Given the description of an element on the screen output the (x, y) to click on. 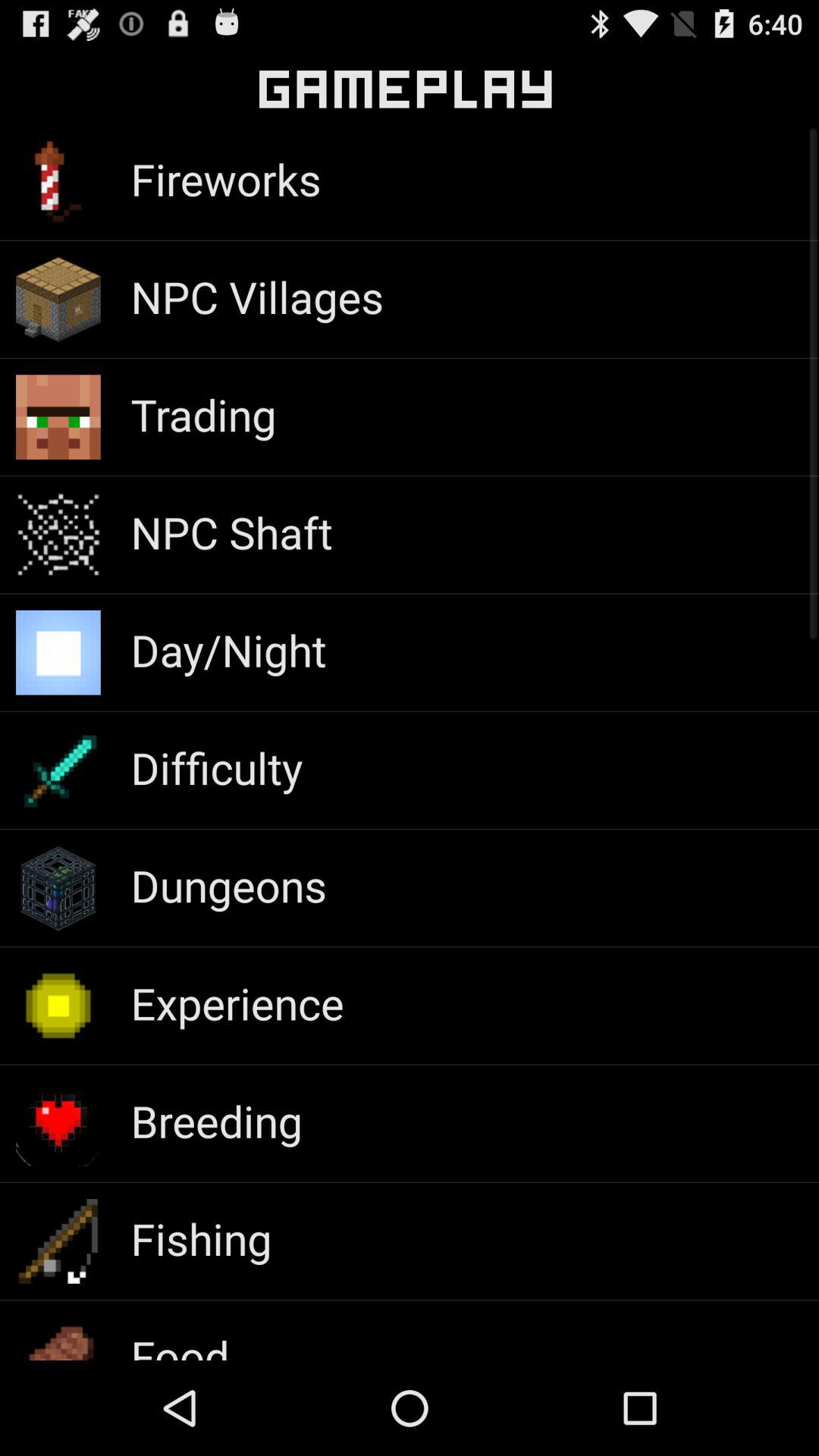
select item above npc shaft item (203, 414)
